Given the description of an element on the screen output the (x, y) to click on. 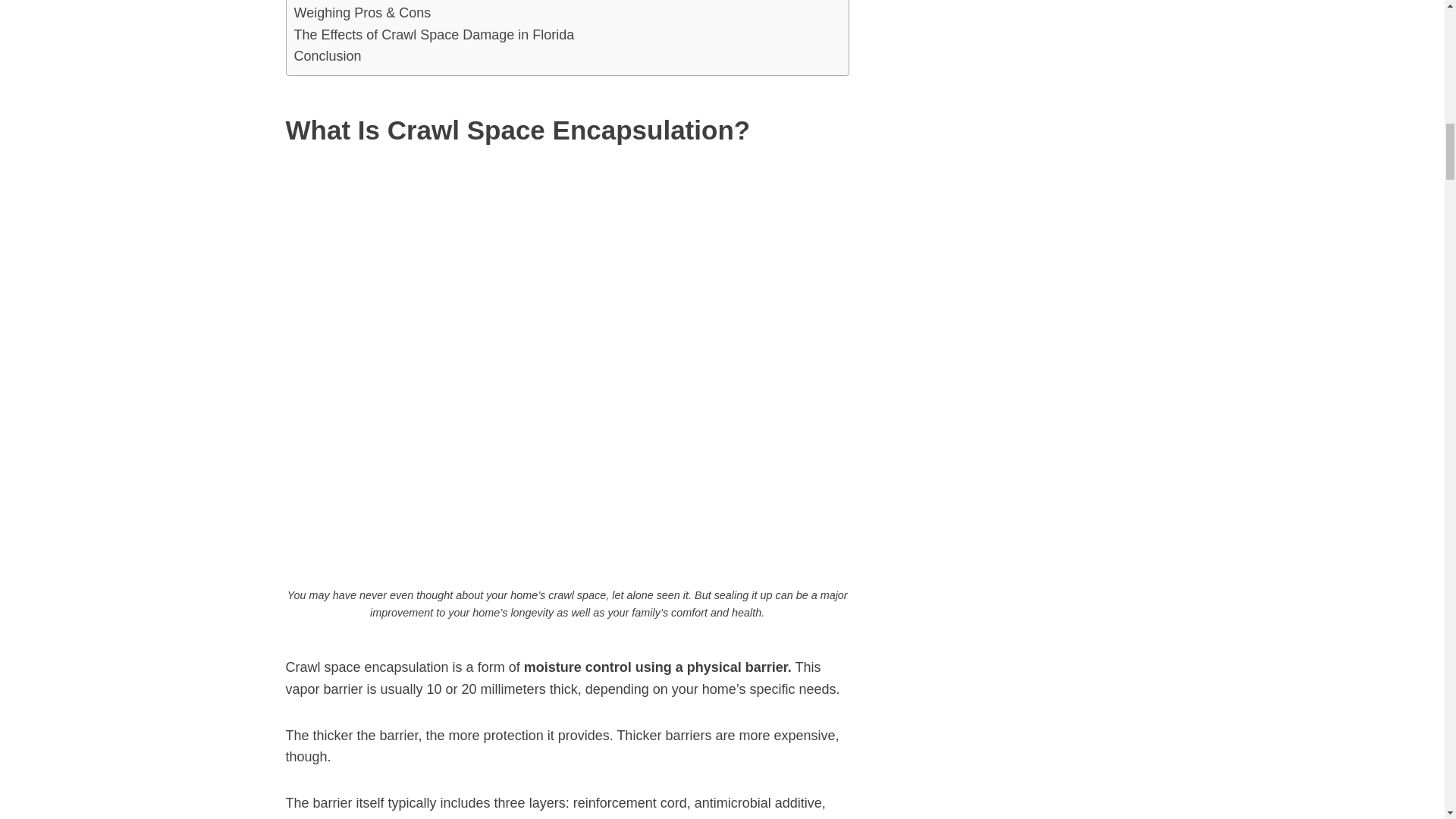
Maintenance (352, 1)
